Given the description of an element on the screen output the (x, y) to click on. 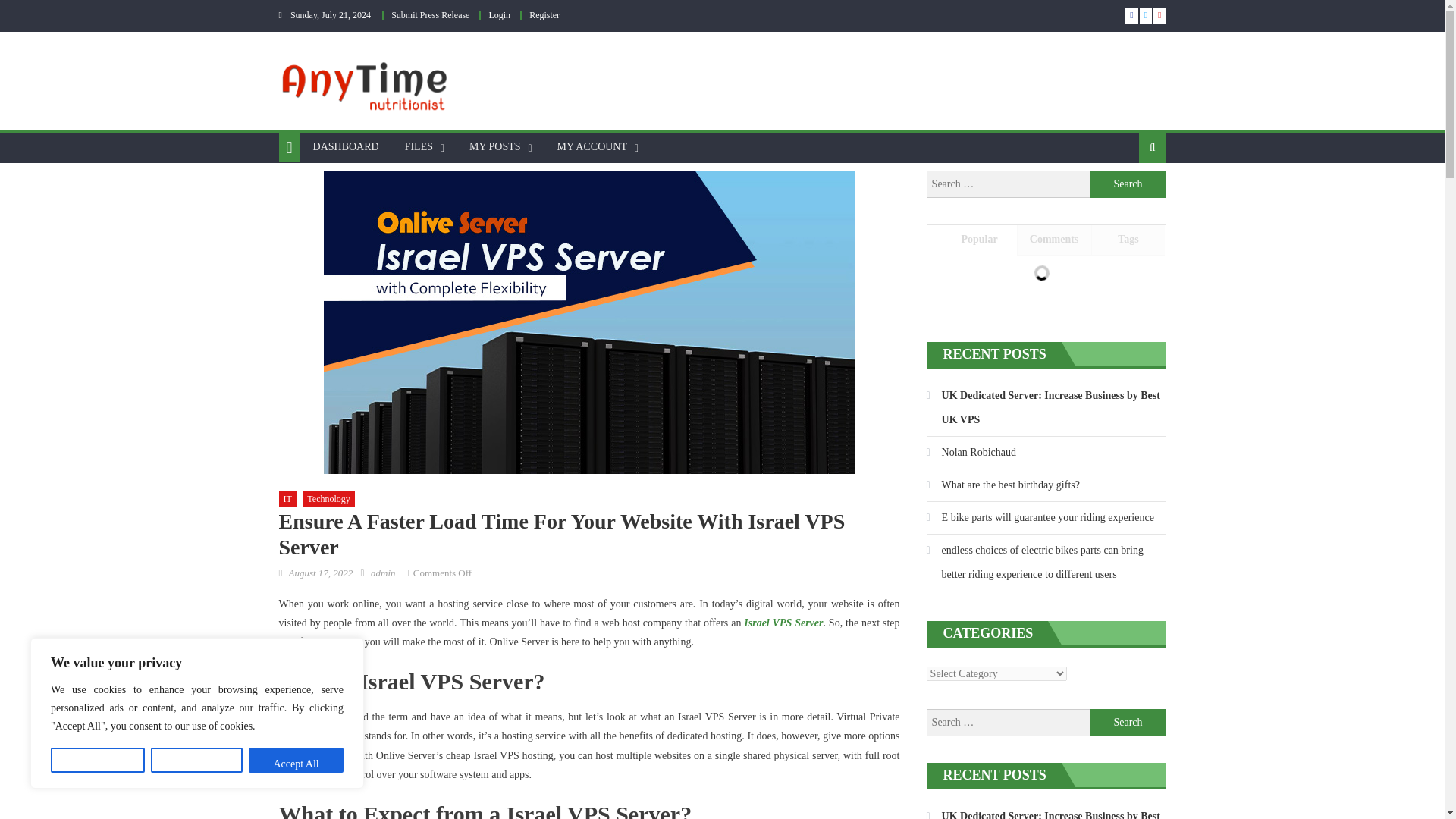
August 17, 2022 (320, 572)
Accept All (295, 760)
Search (1128, 184)
Search (1128, 184)
MY POSTS (495, 146)
Search (1128, 722)
Technology (327, 499)
Submit Press Release (429, 14)
Customize (97, 760)
FILES (418, 146)
Register (544, 14)
MY ACCOUNT (592, 146)
Search (1128, 195)
admin (383, 572)
Reject All (197, 760)
